Given the description of an element on the screen output the (x, y) to click on. 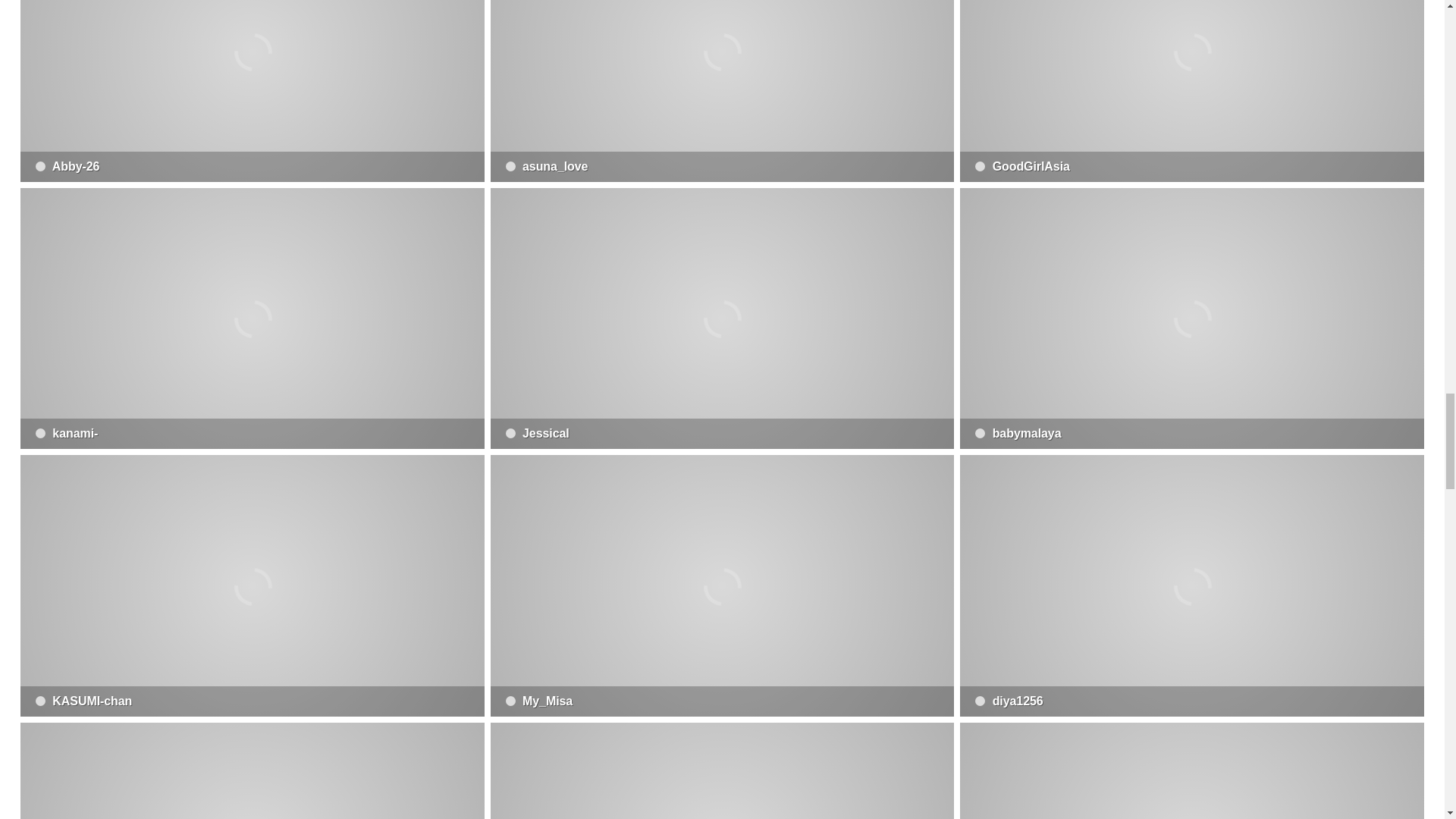
diya1256 (1191, 585)
Jessical (722, 318)
AmyCecily (1191, 770)
KASUMI-chan (252, 585)
babymalaya (1191, 318)
kanami- (252, 318)
GoodGirlAsia (1191, 90)
Abby-26 (252, 90)
